Given the description of an element on the screen output the (x, y) to click on. 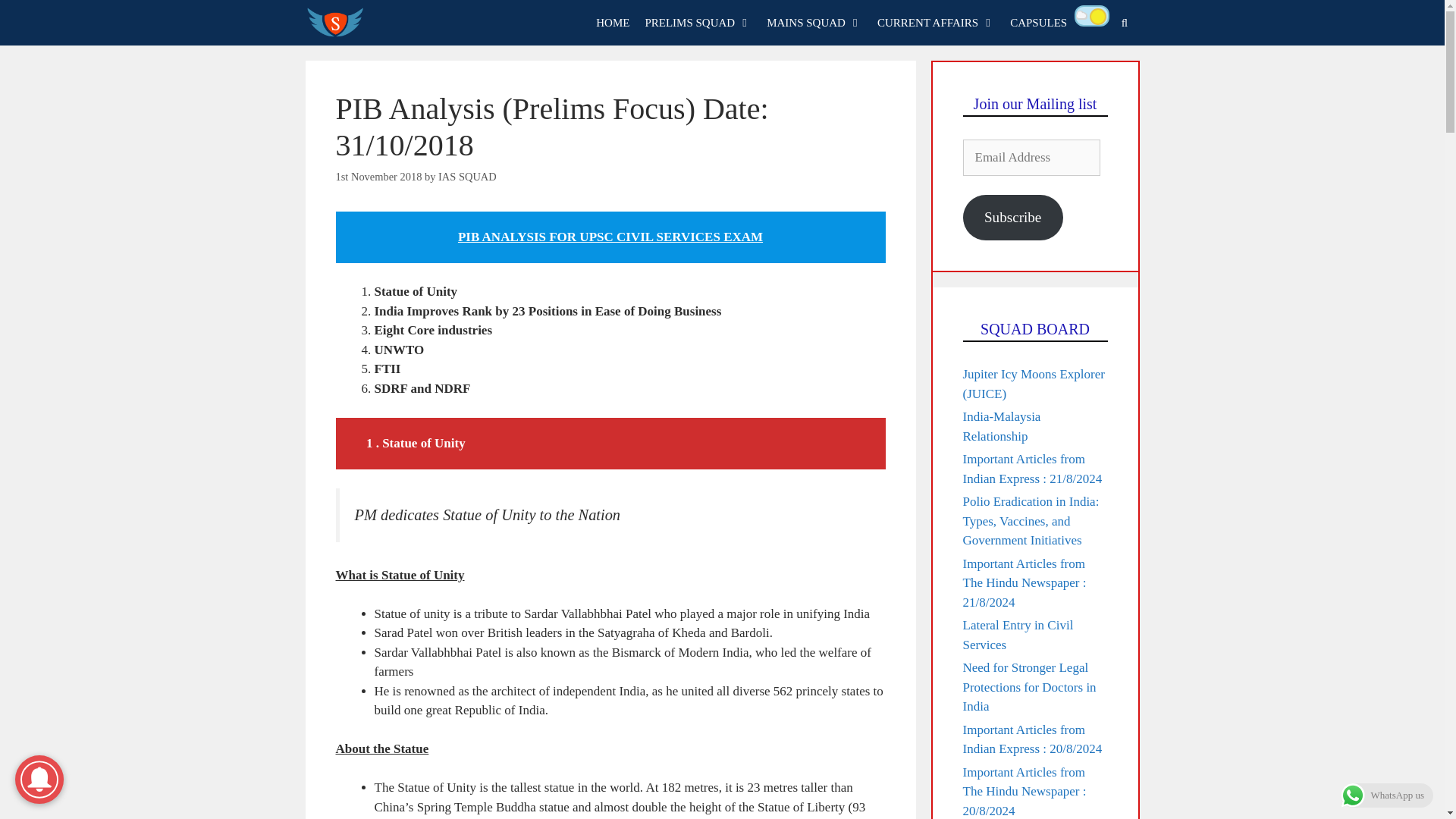
PRELIMS SQUAD (697, 22)
IAS SQUAD (334, 22)
View all posts by IAS SQUAD (467, 176)
IAS SQUAD (338, 22)
HOME (612, 22)
